Given the description of an element on the screen output the (x, y) to click on. 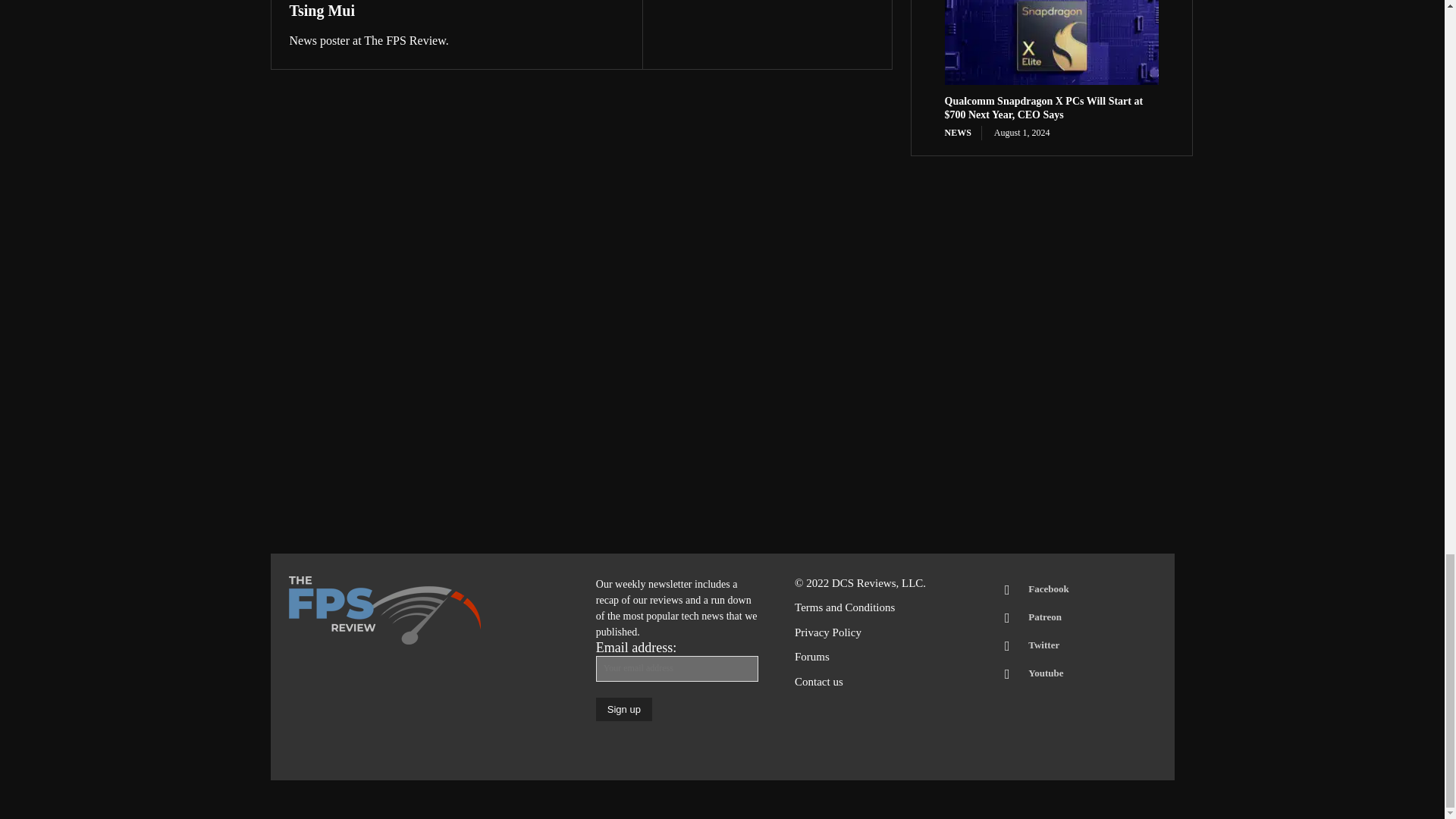
Sign up (623, 709)
